Given the description of an element on the screen output the (x, y) to click on. 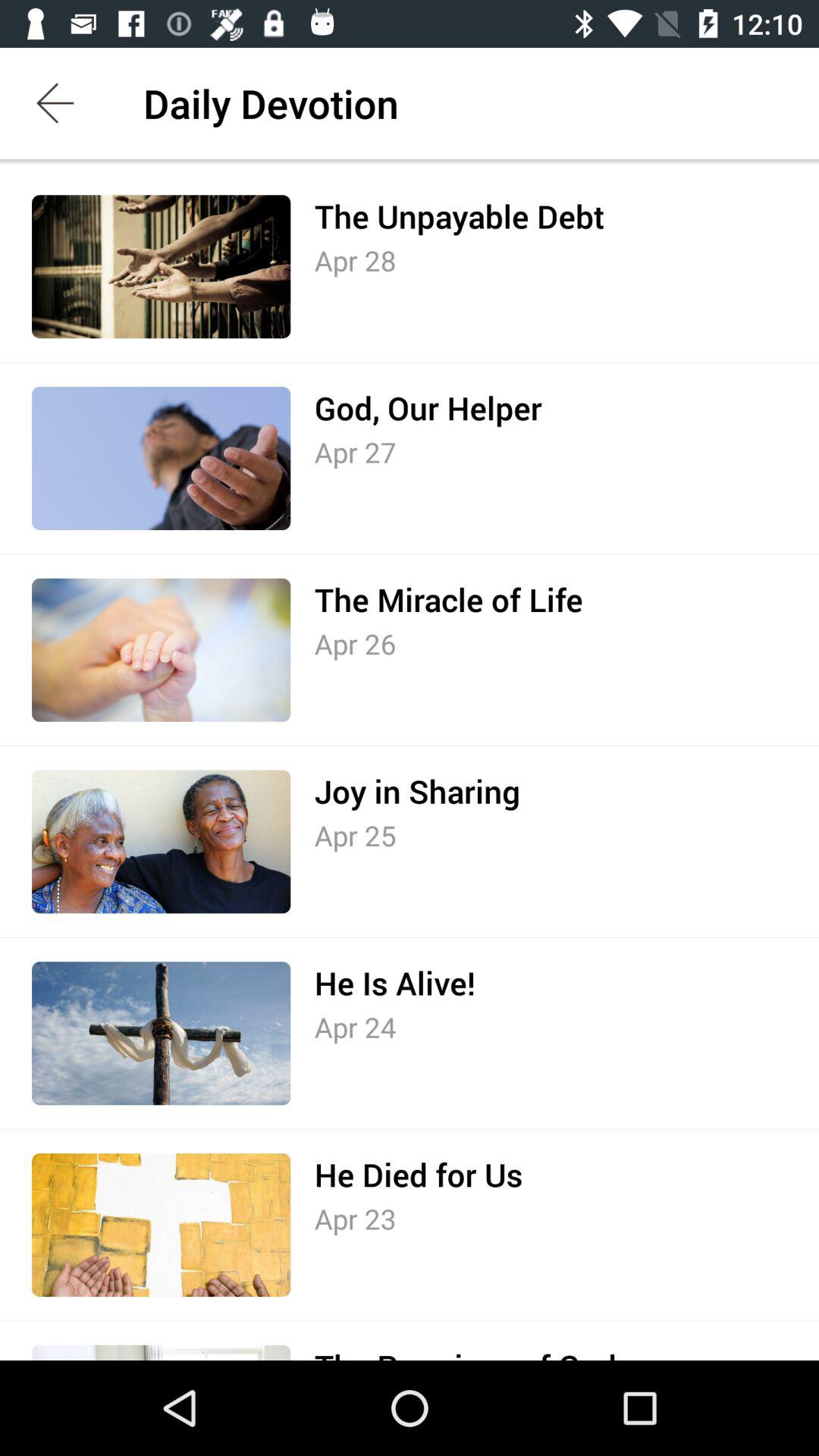
swipe until the the unpayable debt icon (459, 216)
